Given the description of an element on the screen output the (x, y) to click on. 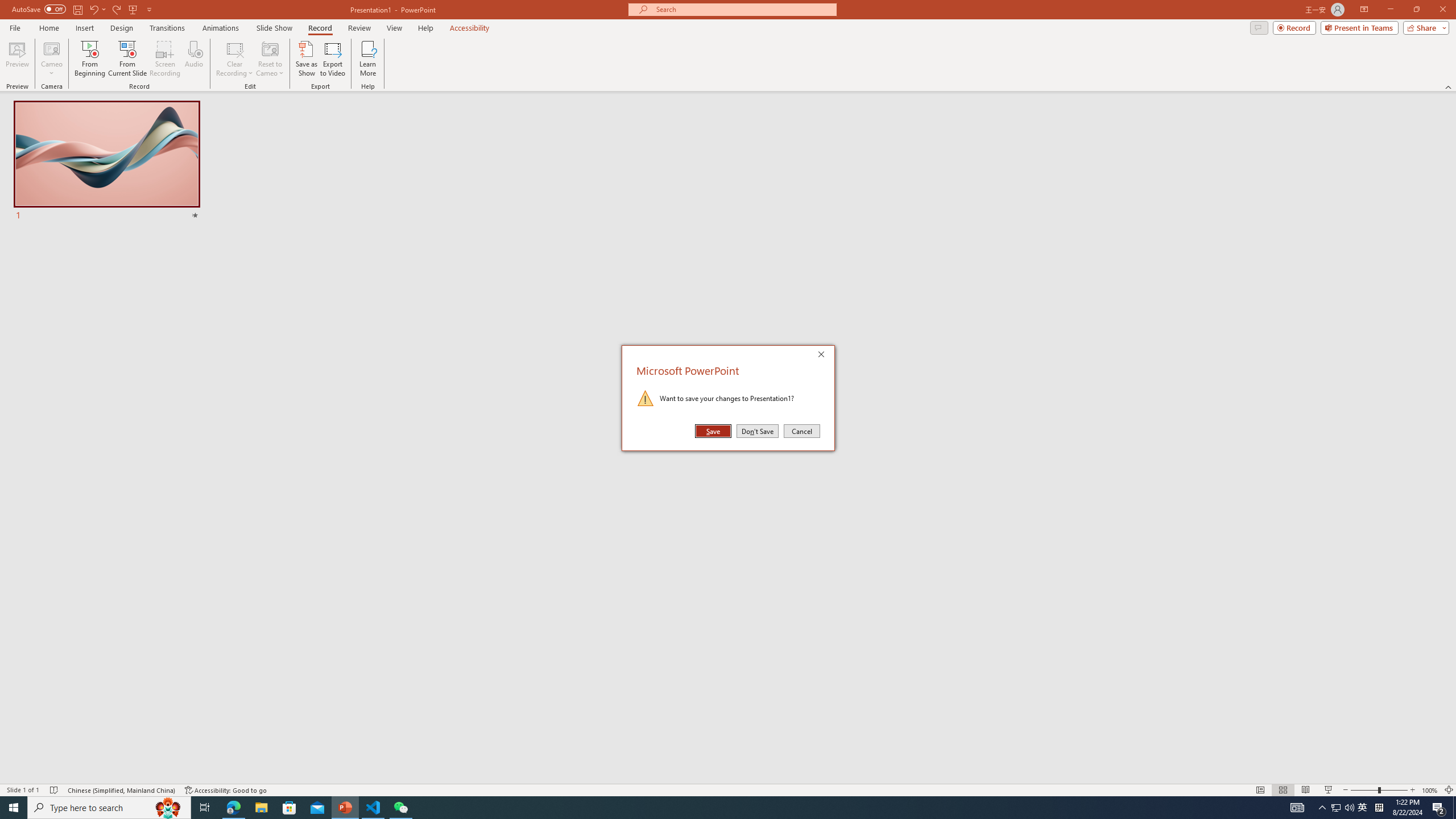
Reset to Cameo (269, 58)
